Given the description of an element on the screen output the (x, y) to click on. 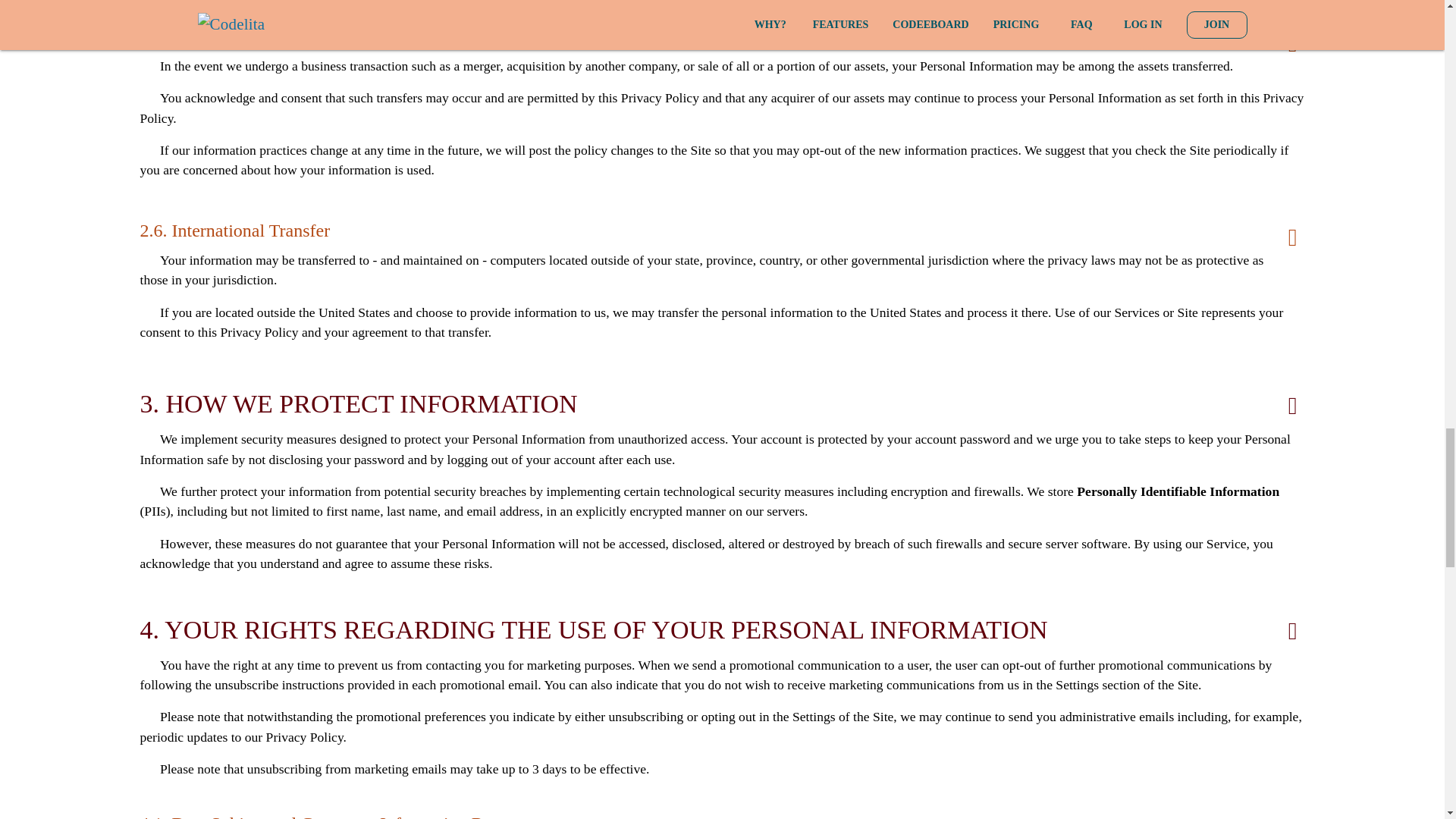
HOW WE PROTECT INFORMATION (370, 403)
International Transfer (250, 230)
Business Transactions (252, 35)
